Given the description of an element on the screen output the (x, y) to click on. 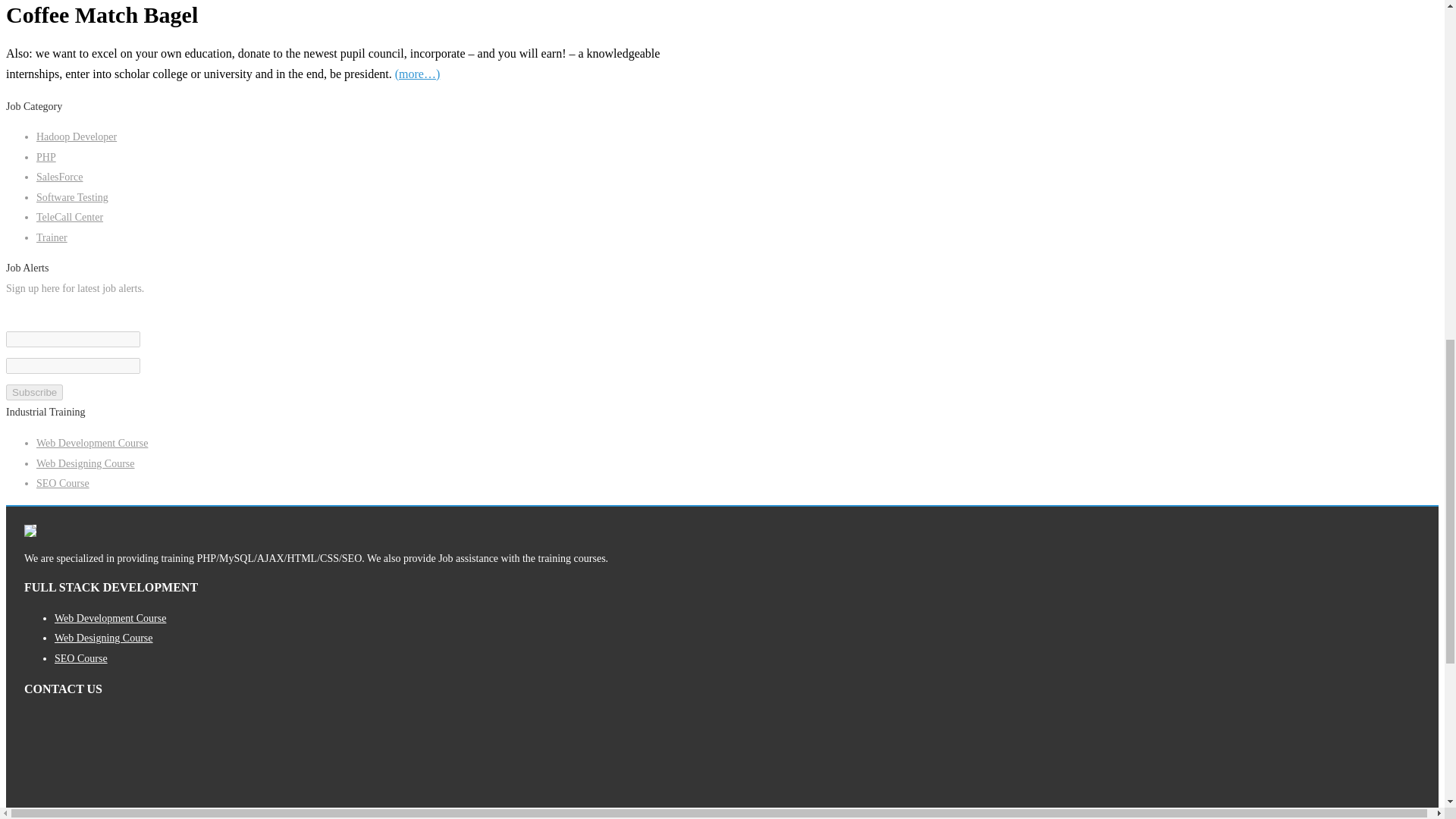
PHP (46, 156)
Trainer (51, 237)
SalesForce (59, 176)
Subscribe (33, 392)
Web Designing Course (85, 463)
Software Testing (71, 197)
SEO Course (81, 658)
Subscribe (33, 392)
TeleCall Center (69, 216)
Web Development Course (92, 442)
